Given the description of an element on the screen output the (x, y) to click on. 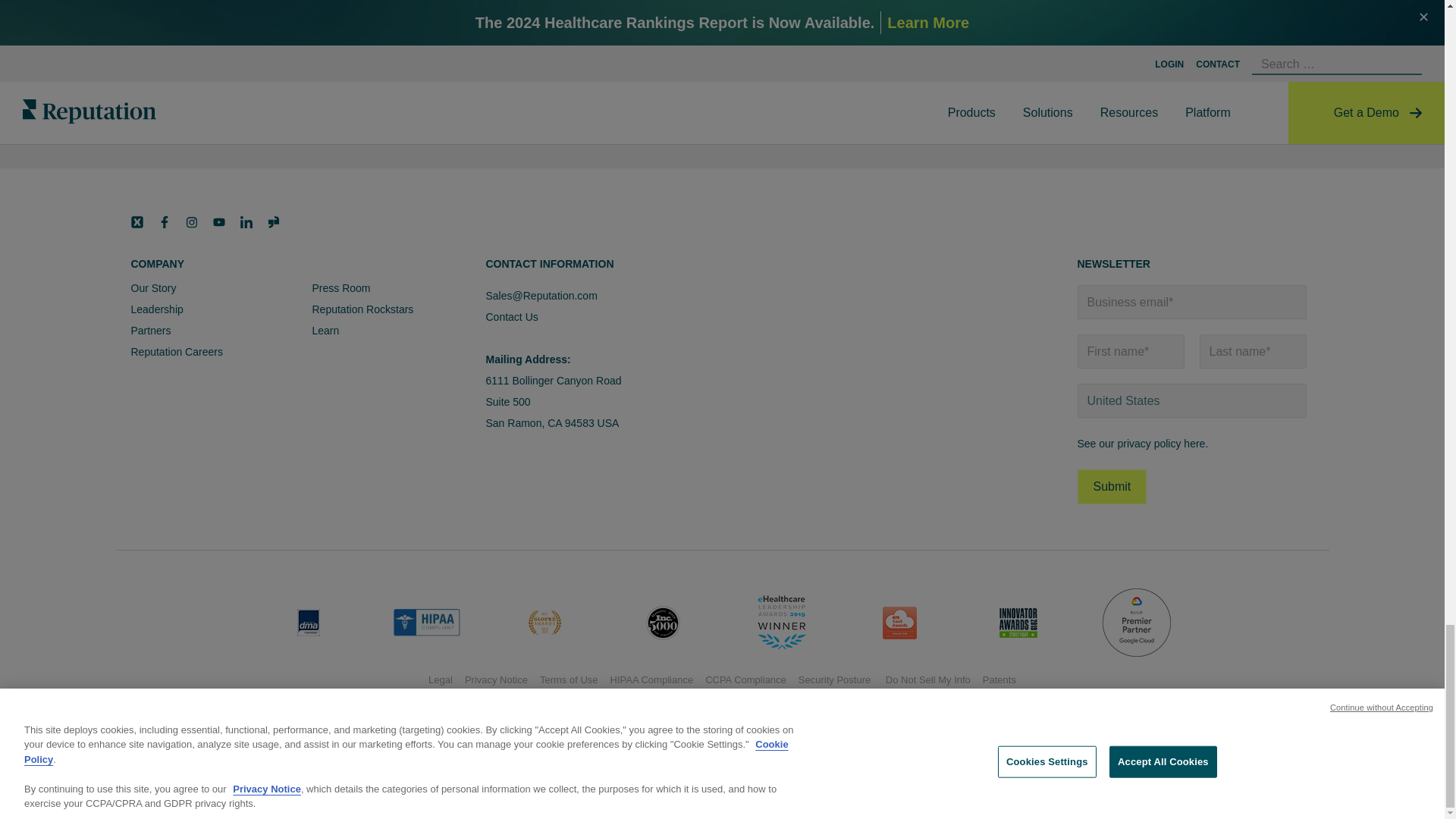
Submit (1112, 486)
Layer 1 (272, 222)
